Given the description of an element on the screen output the (x, y) to click on. 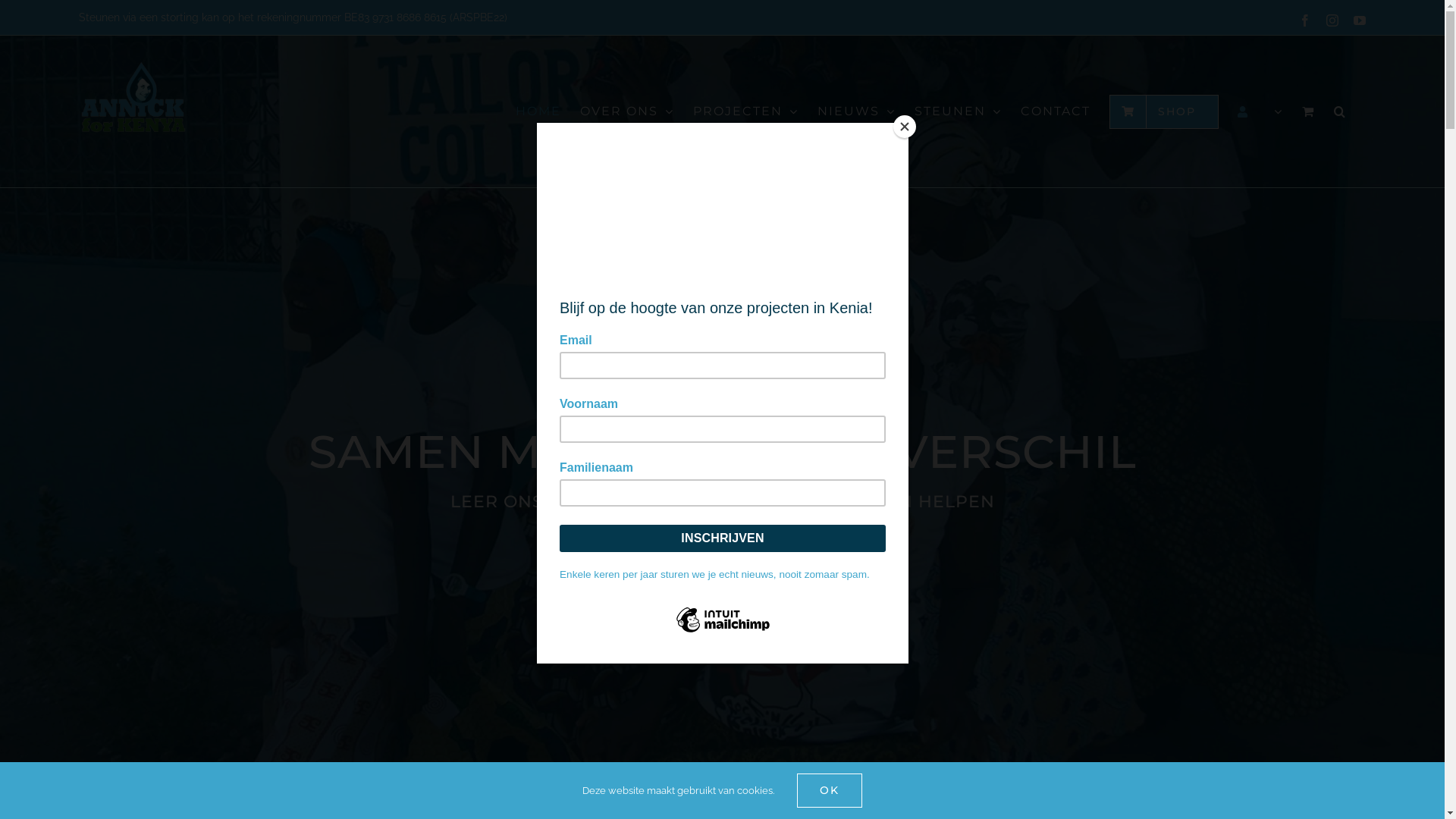
SHOP Element type: text (1163, 111)
Mijn account Element type: text (1260, 111)
OK Element type: text (829, 790)
Facebook Element type: text (1305, 20)
Zoeken Element type: hover (1339, 111)
OVER ONS Element type: text (627, 111)
STEUNEN Element type: text (957, 111)
Inloggen Element type: text (1316, 339)
CONTACT Element type: text (1055, 111)
PROJECTEN Element type: text (745, 111)
YouTube Element type: text (1359, 20)
Instagram Element type: text (1332, 20)
NIEUWS Element type: text (856, 111)
HOME Element type: text (538, 111)
DOE EEN GIFT Element type: text (799, 564)
ONS VERHAAL Element type: text (645, 564)
